Given the description of an element on the screen output the (x, y) to click on. 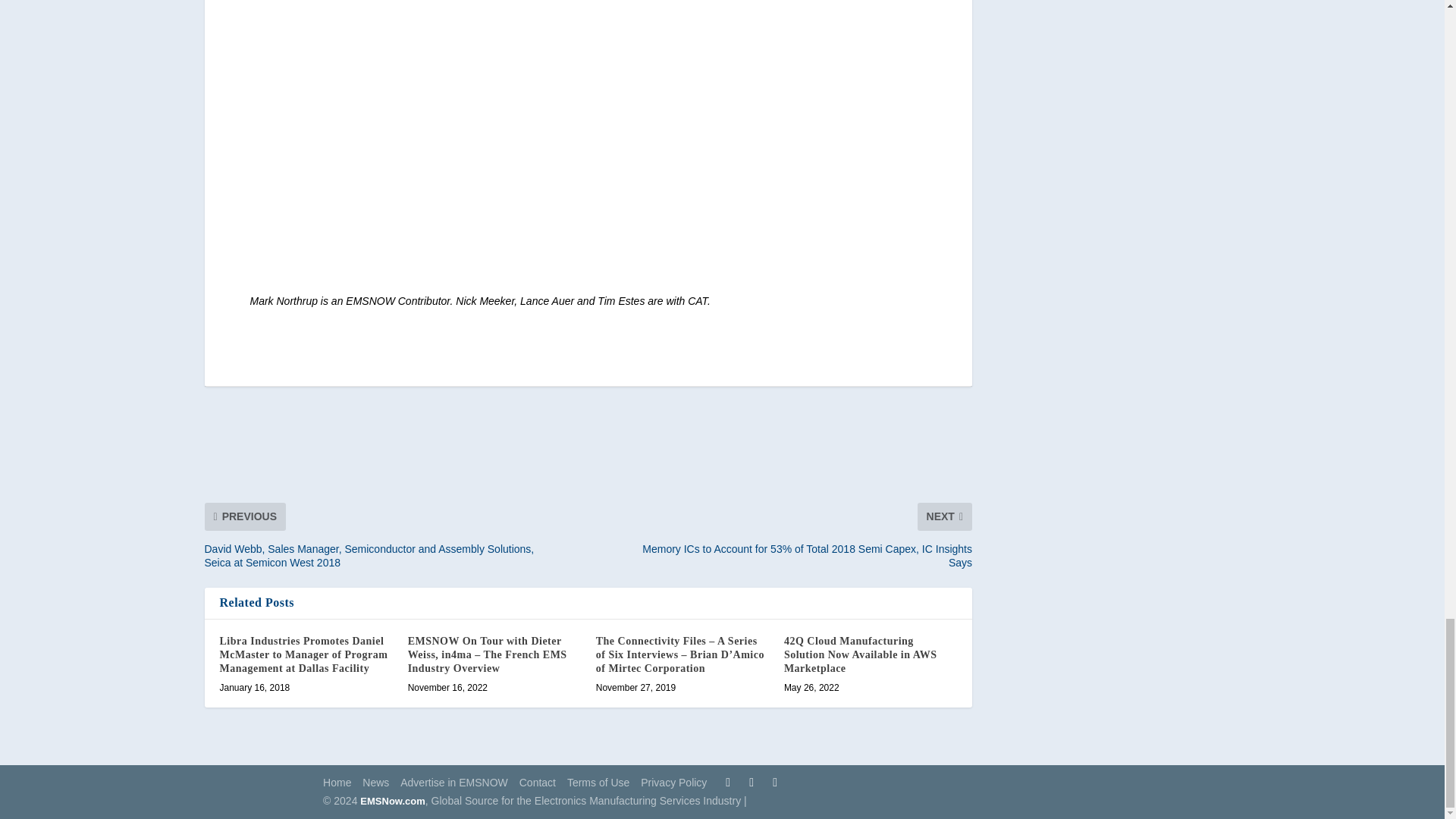
EMSNow.com (392, 800)
amark (475, 139)
